Given the description of an element on the screen output the (x, y) to click on. 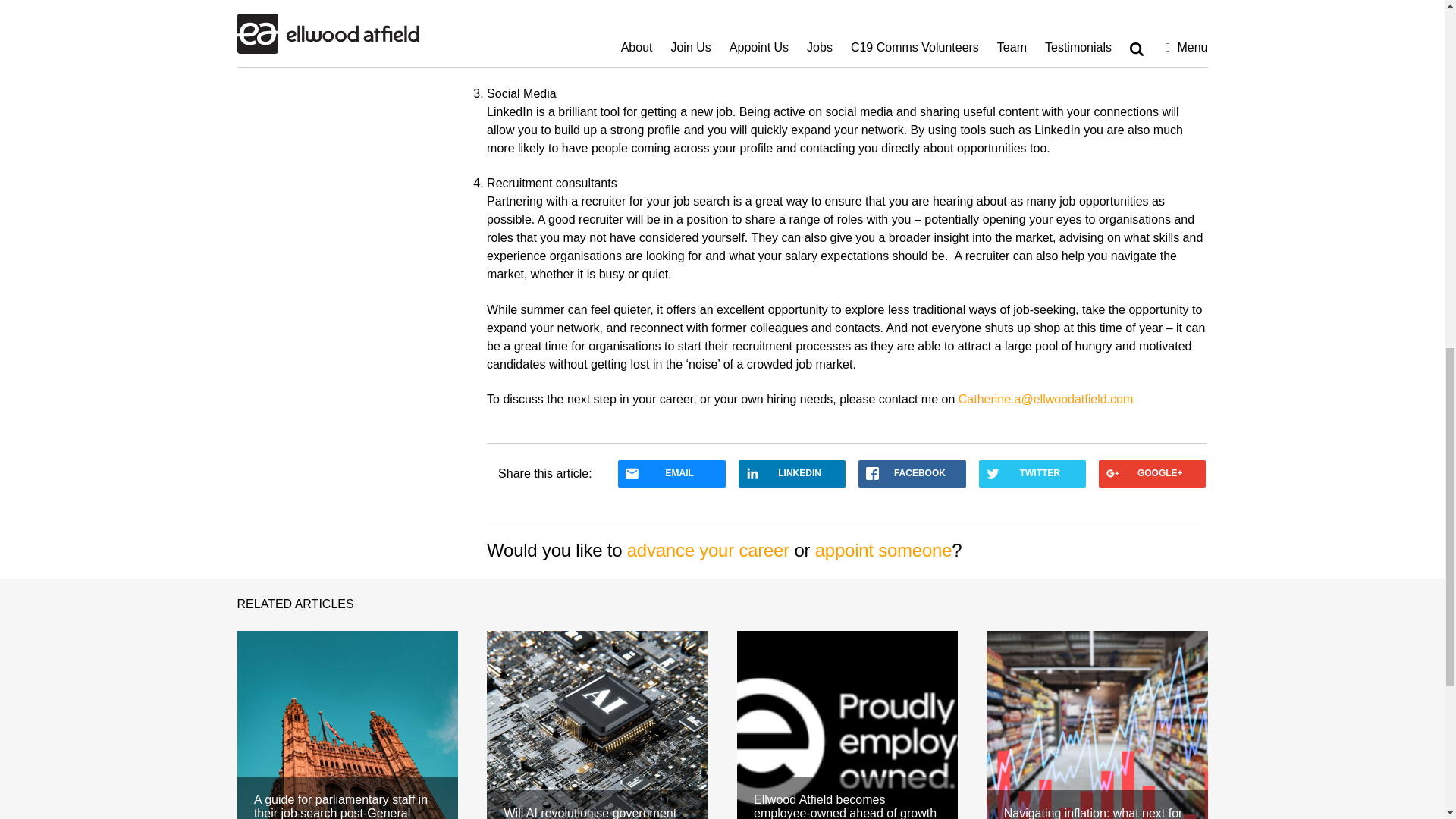
FACEBOOK (912, 473)
Will AI revolutionise government affairs? (596, 724)
appoint someone (883, 549)
TWITTER (1032, 473)
advance your career (708, 549)
EMAIL (671, 473)
LINKEDIN (791, 473)
